Given the description of an element on the screen output the (x, y) to click on. 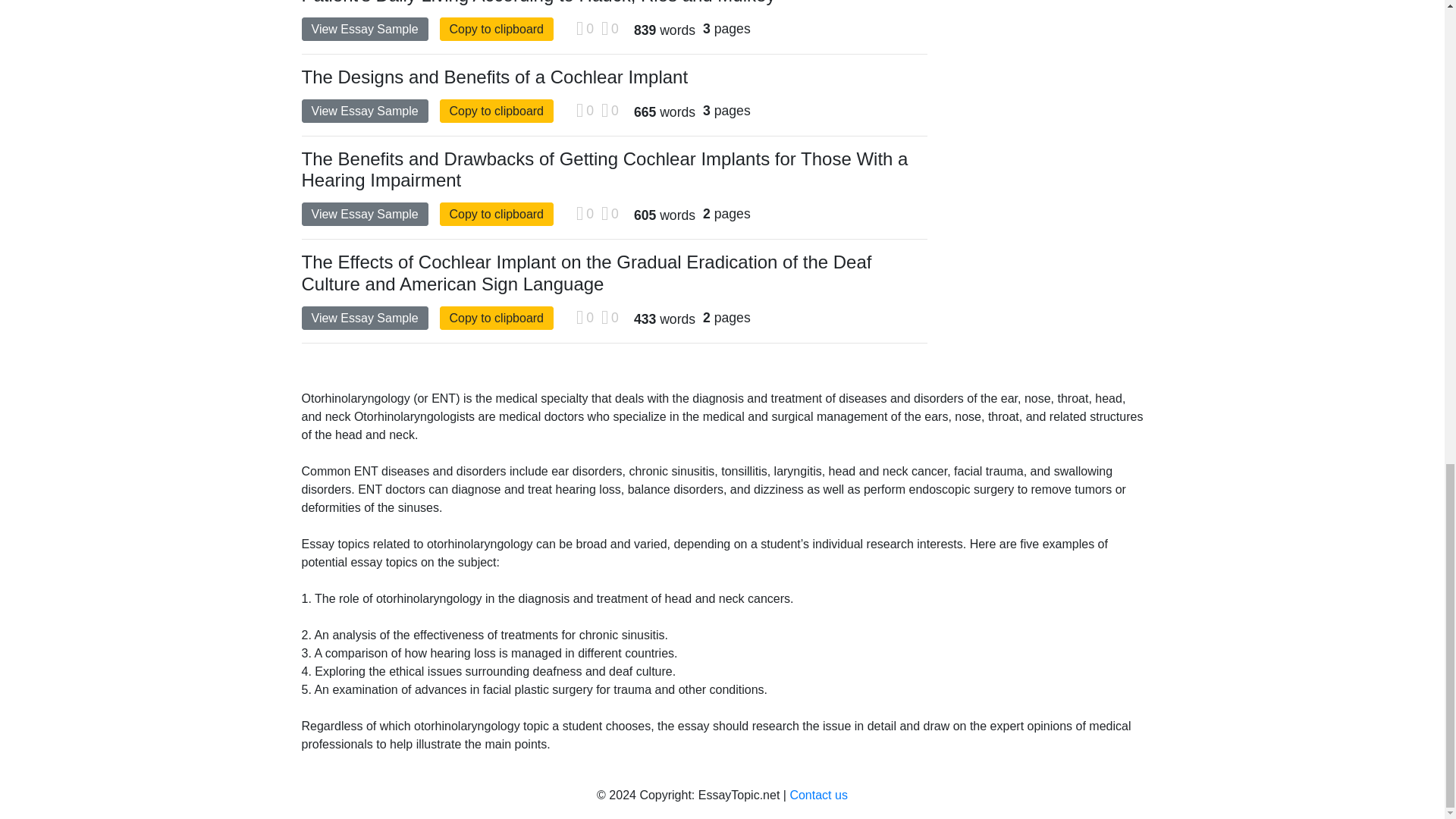
Copy to clipboard (496, 110)
Copy to clipboard (496, 28)
View Essay Sample (364, 318)
View Essay Sample (364, 28)
Contact us (818, 794)
Copy to clipboard (496, 214)
Copy to clipboard (496, 318)
View Essay Sample (364, 110)
View Essay Sample (364, 214)
